Given the description of an element on the screen output the (x, y) to click on. 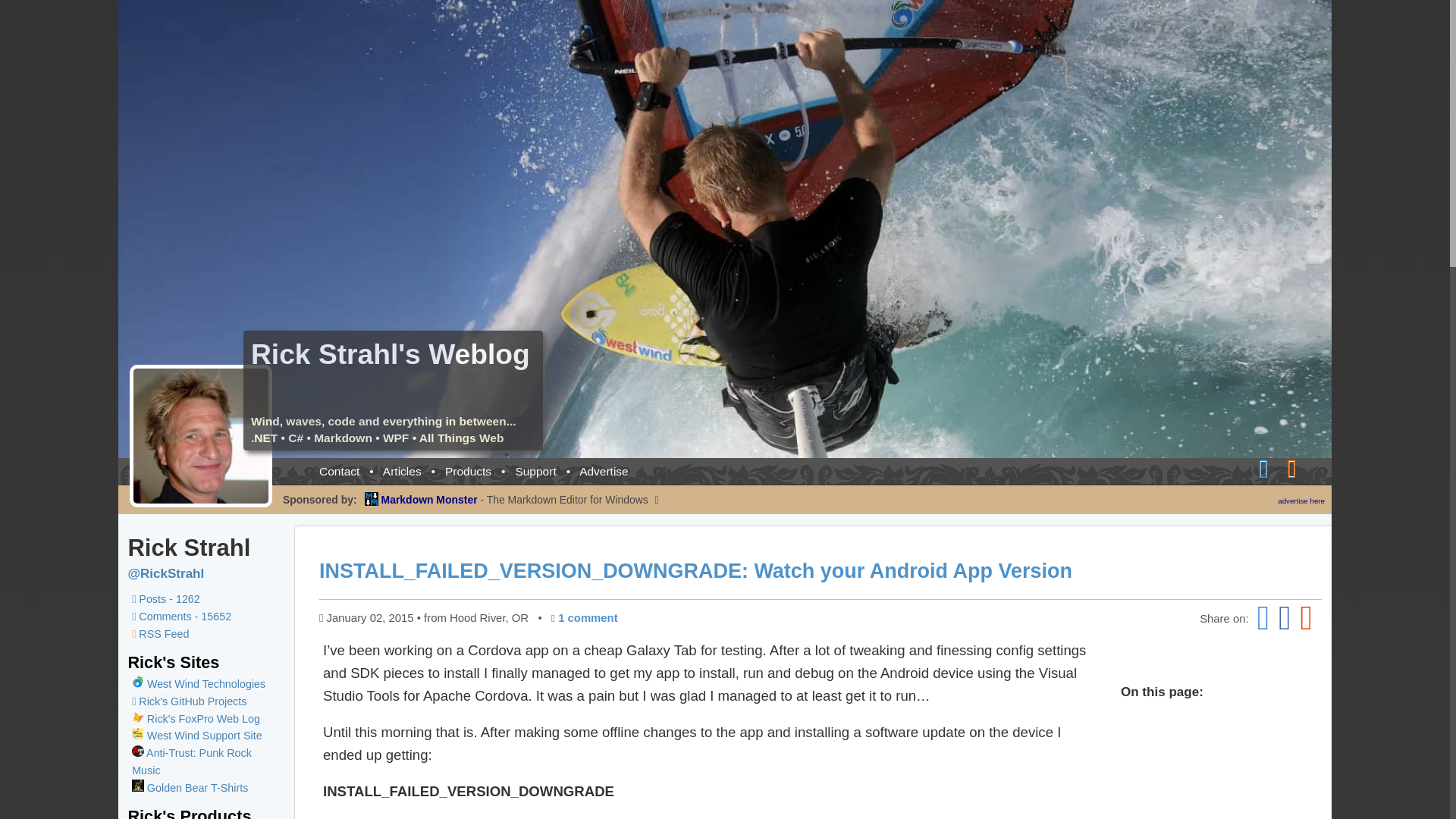
West Wind Support Site (197, 735)
Products (468, 471)
RSS feed for Rick Strahl's Weblog (1297, 466)
Rick's FoxPro Web Log (196, 718)
Rick Strahl's Open Source and Sample projects on GitHub (189, 701)
Anti-Trust: Punk Rock Music (191, 761)
Rick's company home page. (205, 684)
West Wind Technologies (205, 684)
advertise here (1301, 499)
Rick Strahl on Twitter (165, 573)
Articles (402, 471)
West Wind Technologies Support forum (197, 735)
RSS feed for this Weblog (160, 633)
Golden Bear T-Shirts (189, 787)
Contact (338, 471)
